Given the description of an element on the screen output the (x, y) to click on. 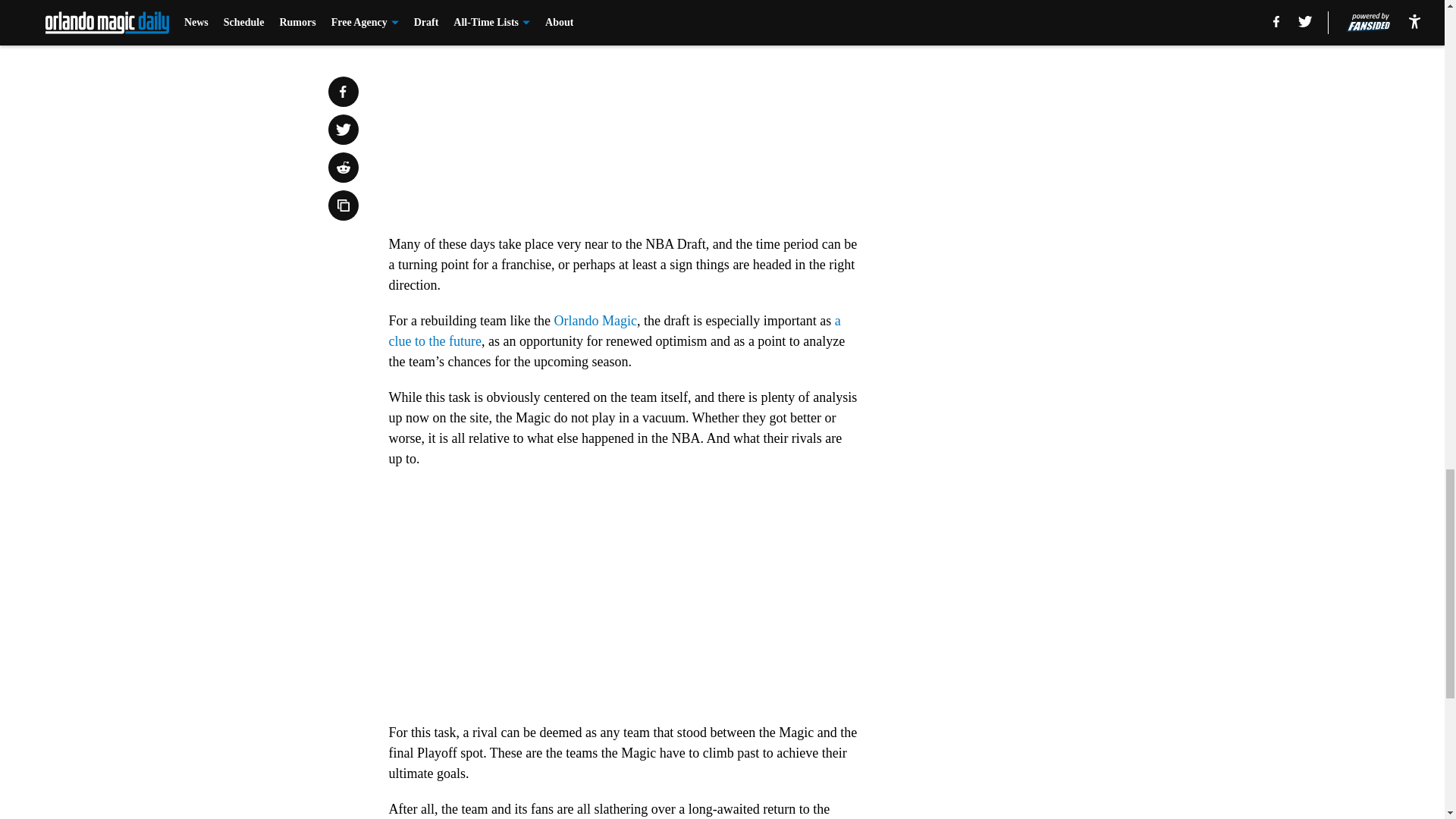
Orlando Magic (594, 320)
a clue to the future (614, 330)
